Given the description of an element on the screen output the (x, y) to click on. 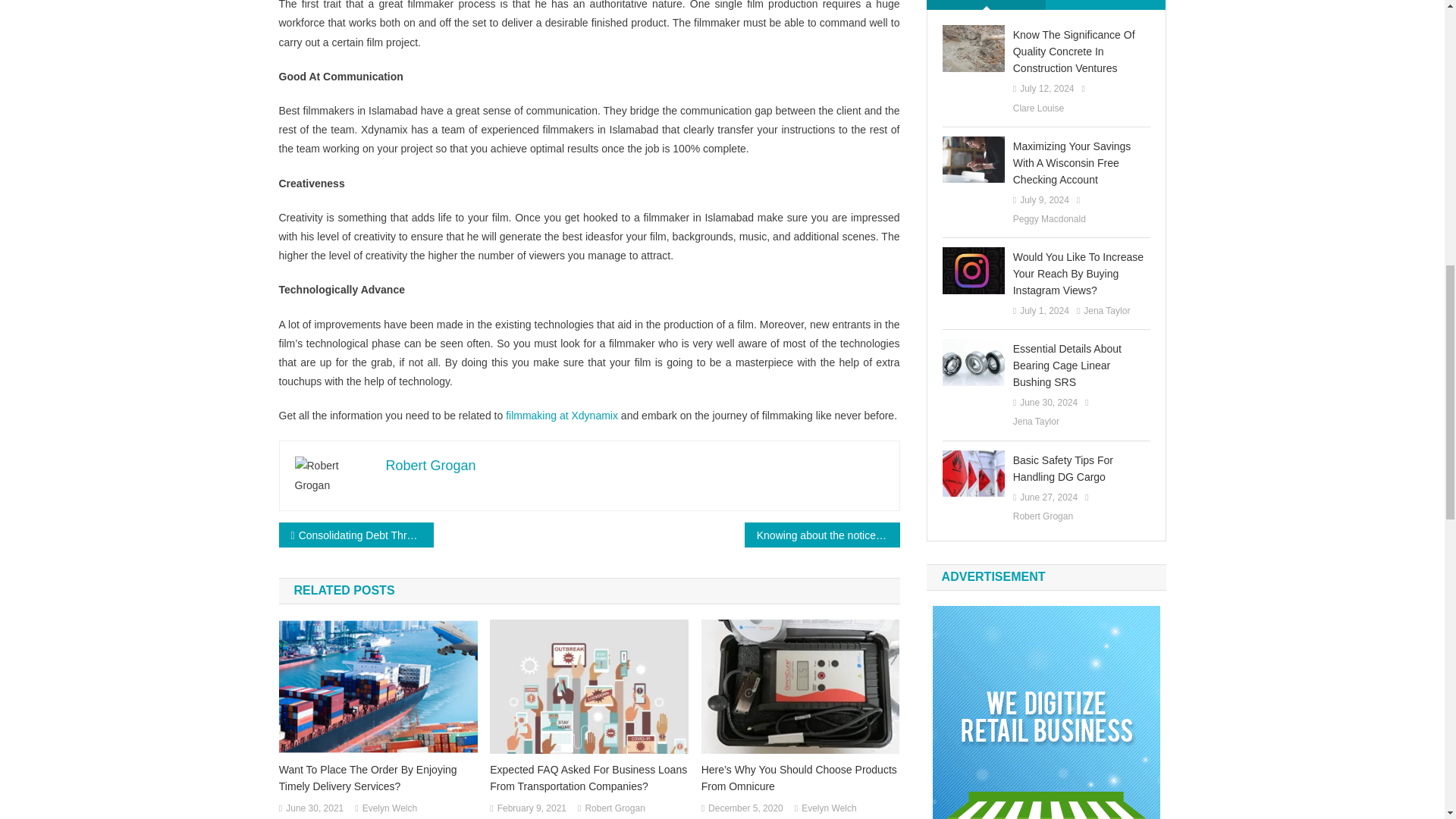
Robert Grogan (615, 808)
June 30, 2021 (314, 808)
Robert Grogan (430, 465)
February 9, 2021 (531, 808)
December 5, 2020 (745, 808)
Consolidating Debt Through a Line of Credit or Overdraft (356, 534)
Evelyn Welch (389, 808)
Evelyn Welch (829, 808)
Knowing about the notice boards (821, 534)
filmmaking at Xdynamix (561, 415)
